Given the description of an element on the screen output the (x, y) to click on. 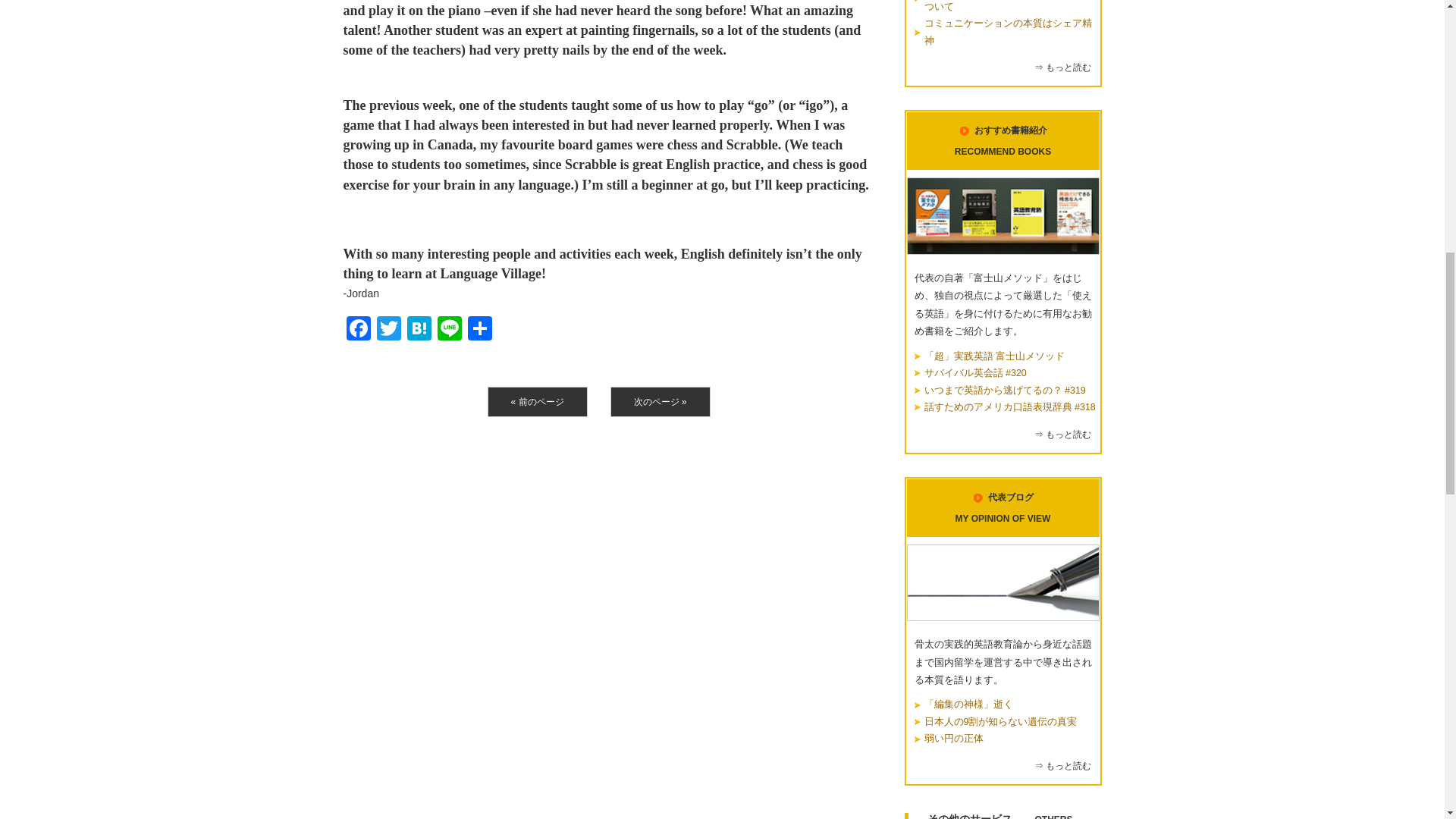
Facebook (357, 329)
Facebook (357, 329)
Twitter (387, 329)
Twitter (387, 329)
Hatena (418, 329)
Line (448, 329)
